Given the description of an element on the screen output the (x, y) to click on. 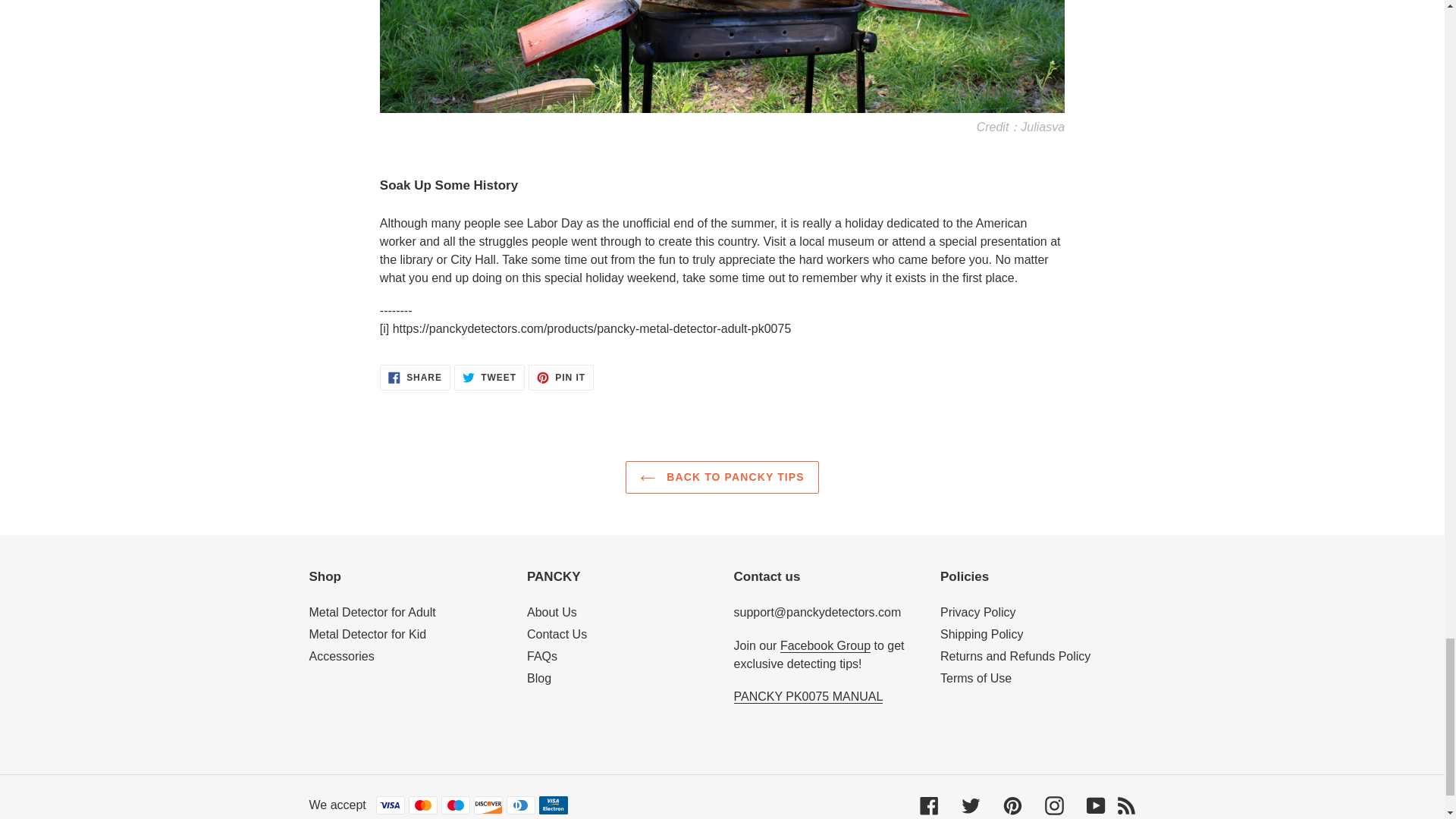
Discover (488, 805)
Diners Club (520, 805)
Mastercard (414, 377)
Maestro (489, 377)
Visa (423, 805)
Visa Electron (455, 805)
